Given the description of an element on the screen output the (x, y) to click on. 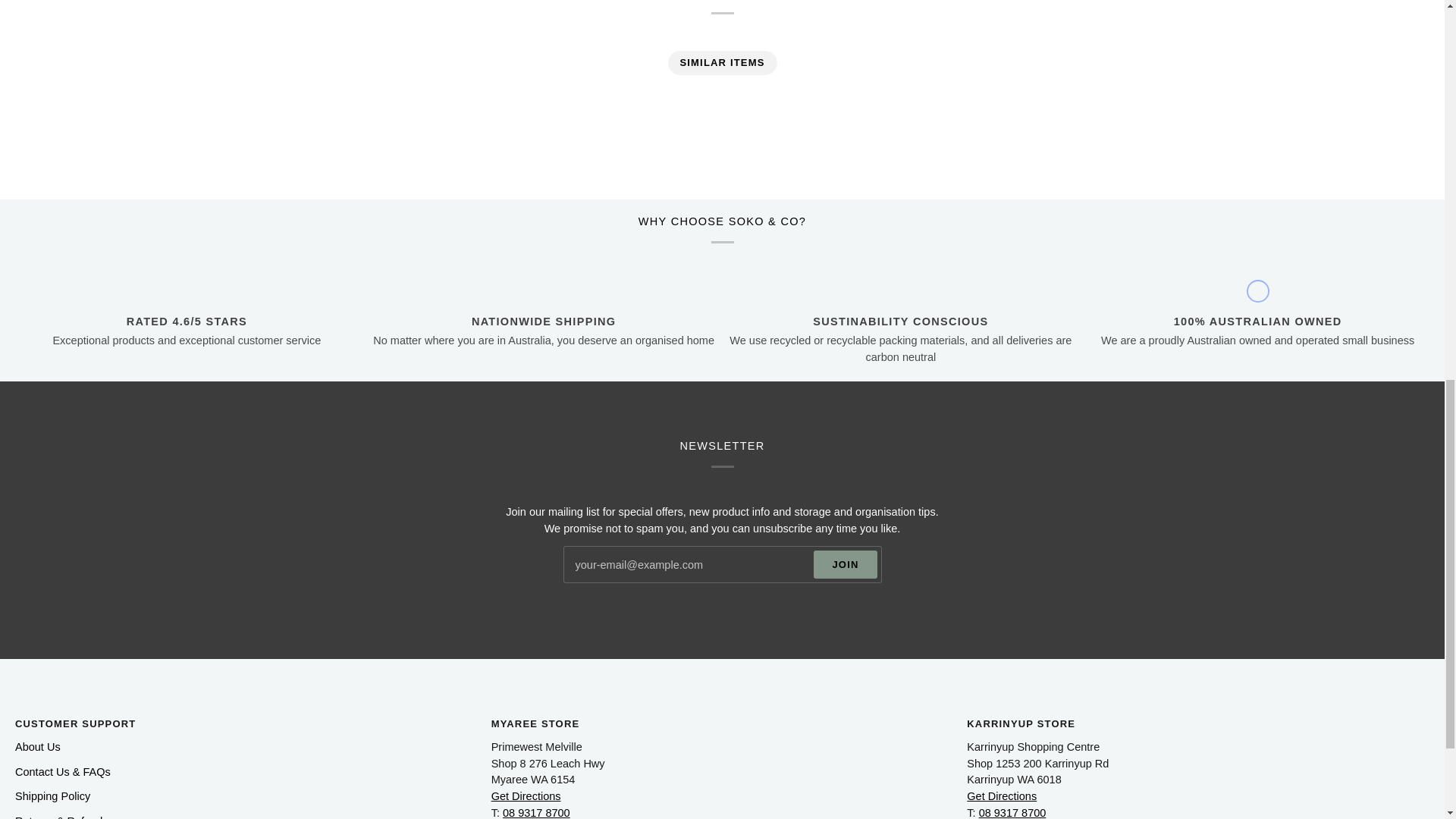
tel:61893178700 (1012, 812)
SIMILAR ITEMS (721, 62)
